Given the description of an element on the screen output the (x, y) to click on. 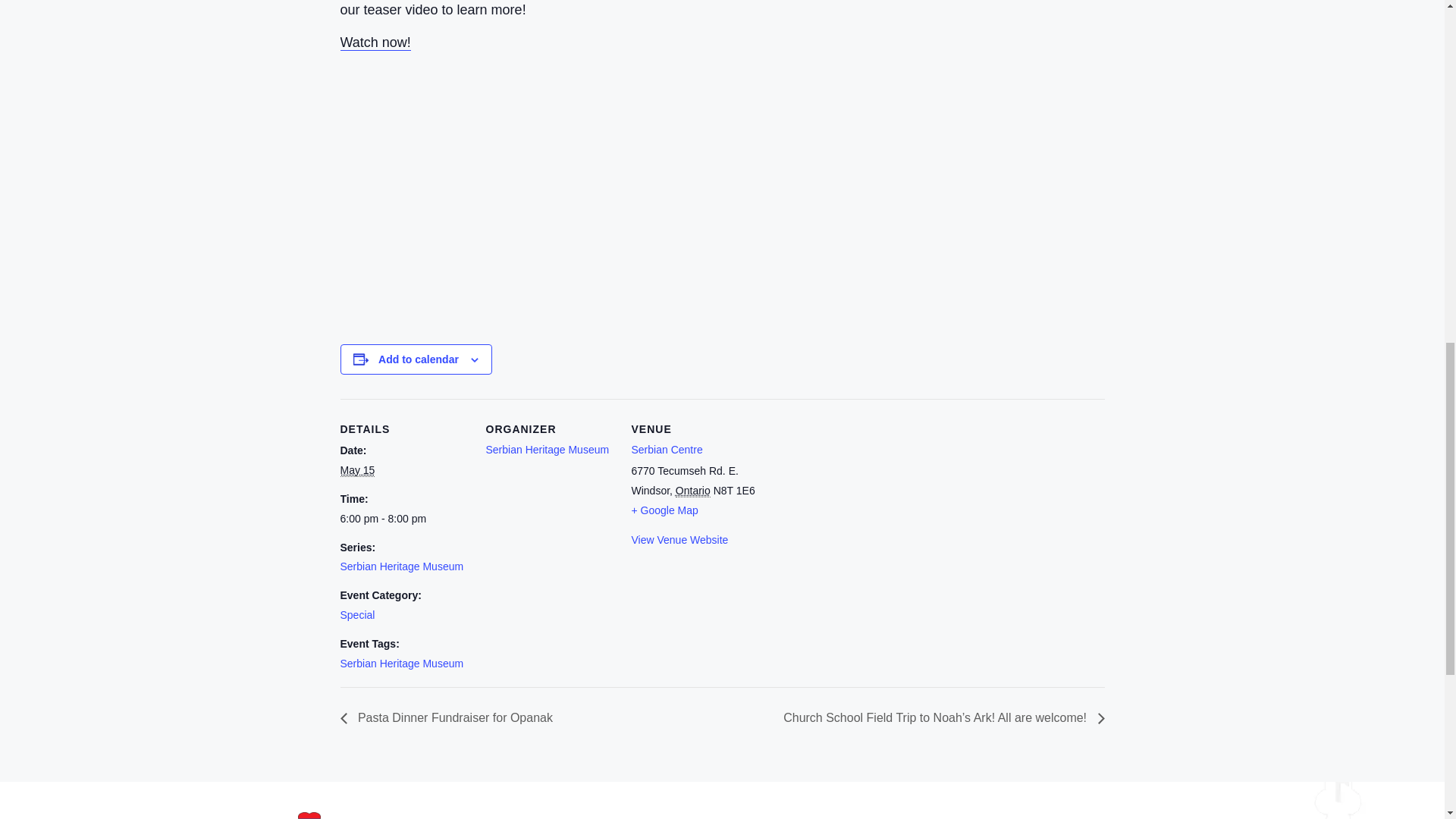
Ontario (692, 490)
Click to view a Google Map (663, 510)
Scroll back to top (1406, 720)
Google maps iframe displaying the address to Serbian Centre (856, 503)
2024-05-15 (356, 470)
Serbian Heritage Museum (546, 449)
Serbian Heritage Museum (401, 566)
2024-05-15 (403, 519)
